Given the description of an element on the screen output the (x, y) to click on. 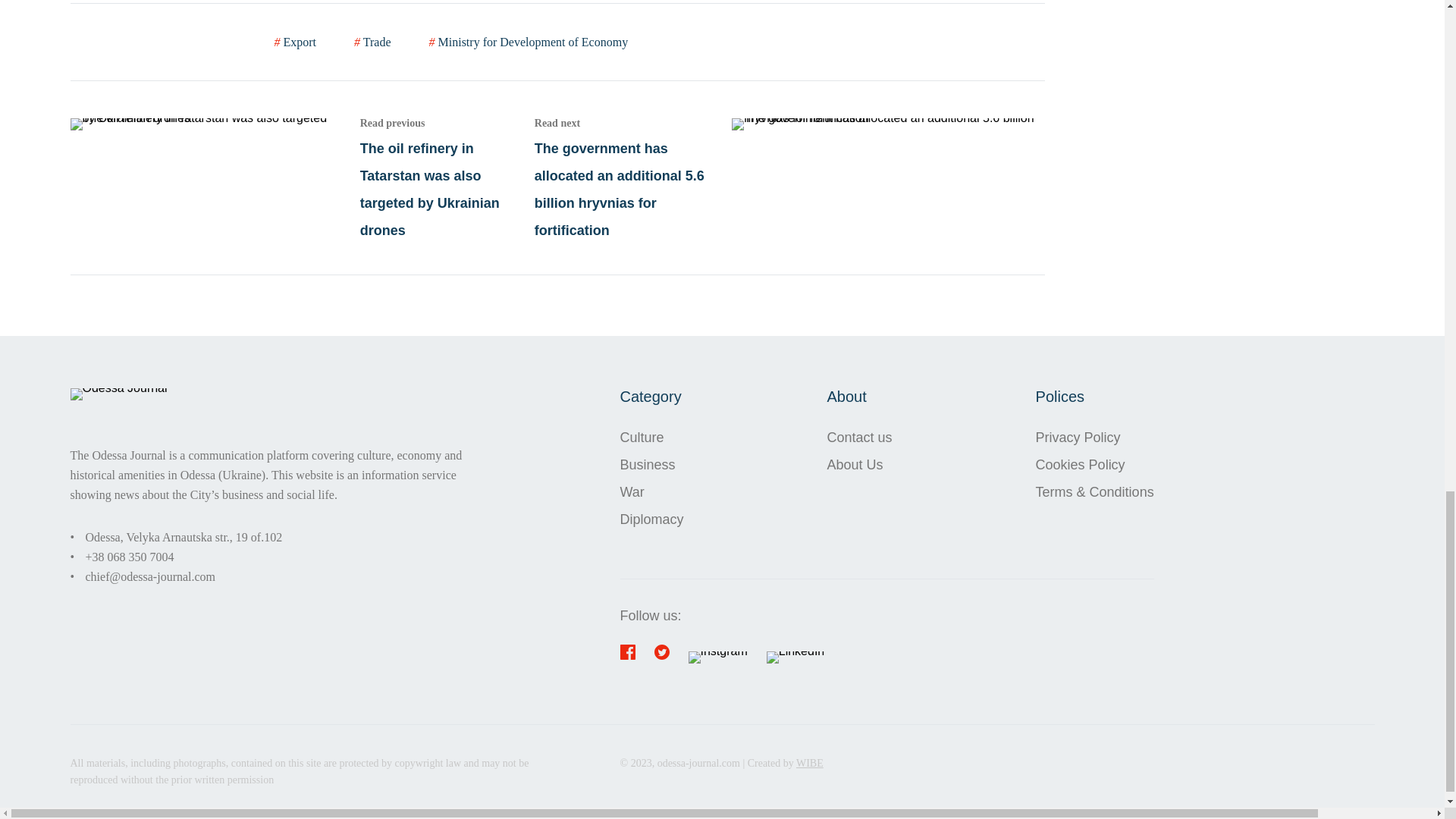
Export (296, 41)
Business (652, 464)
About Us (859, 464)
Diplomacy (652, 519)
Read (789, 177)
Culture (652, 437)
Read (301, 177)
Odessa, Velyka Arnautska str., 19 of.102 (183, 536)
War (652, 492)
Trade (371, 41)
